Given the description of an element on the screen output the (x, y) to click on. 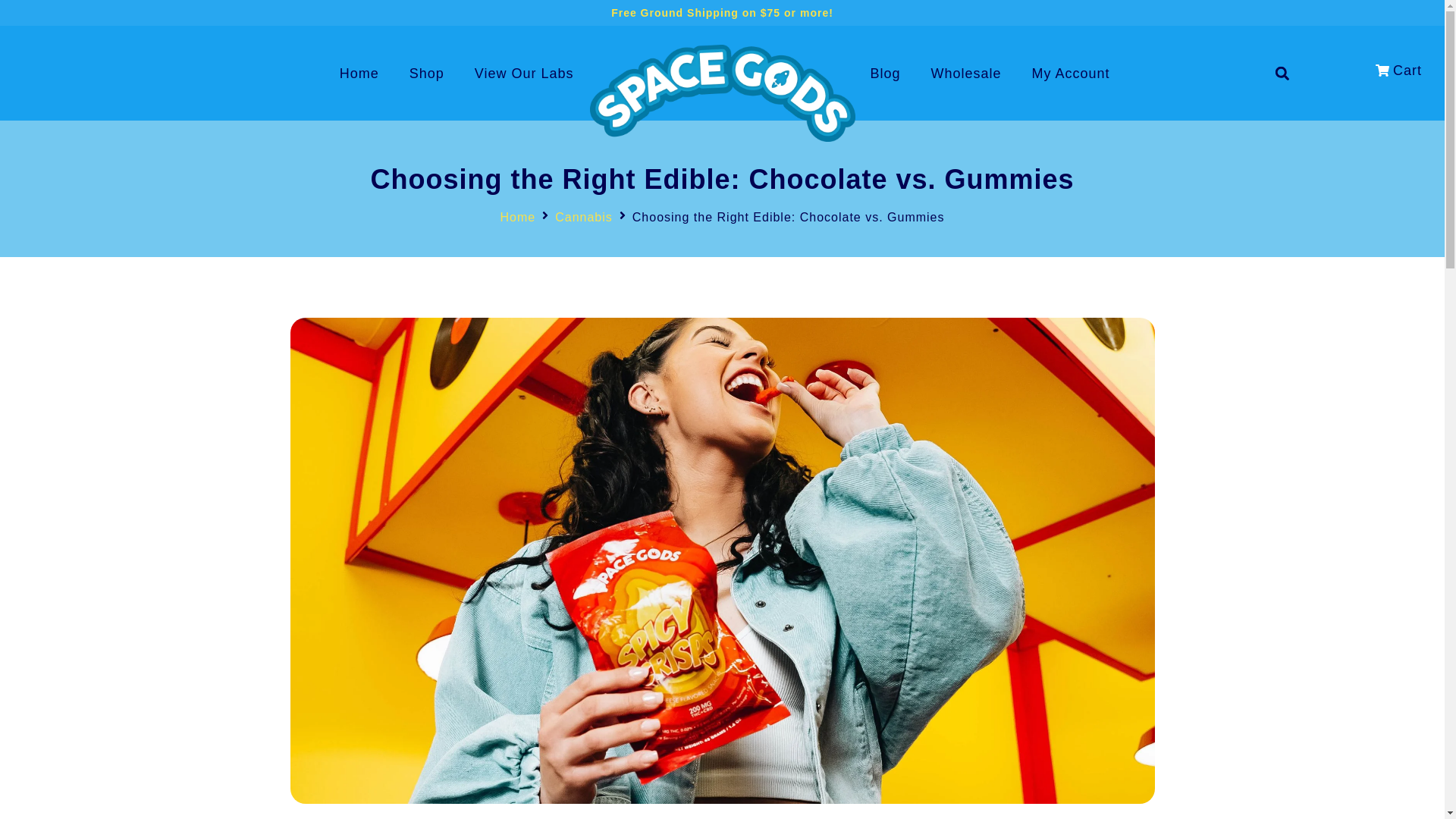
Cannabis (583, 217)
Shop (427, 72)
View Our Labs (524, 72)
Home (517, 217)
Cart (1398, 71)
Blog (885, 72)
Home (359, 72)
My Account (1070, 72)
Wholesale (965, 72)
